Given the description of an element on the screen output the (x, y) to click on. 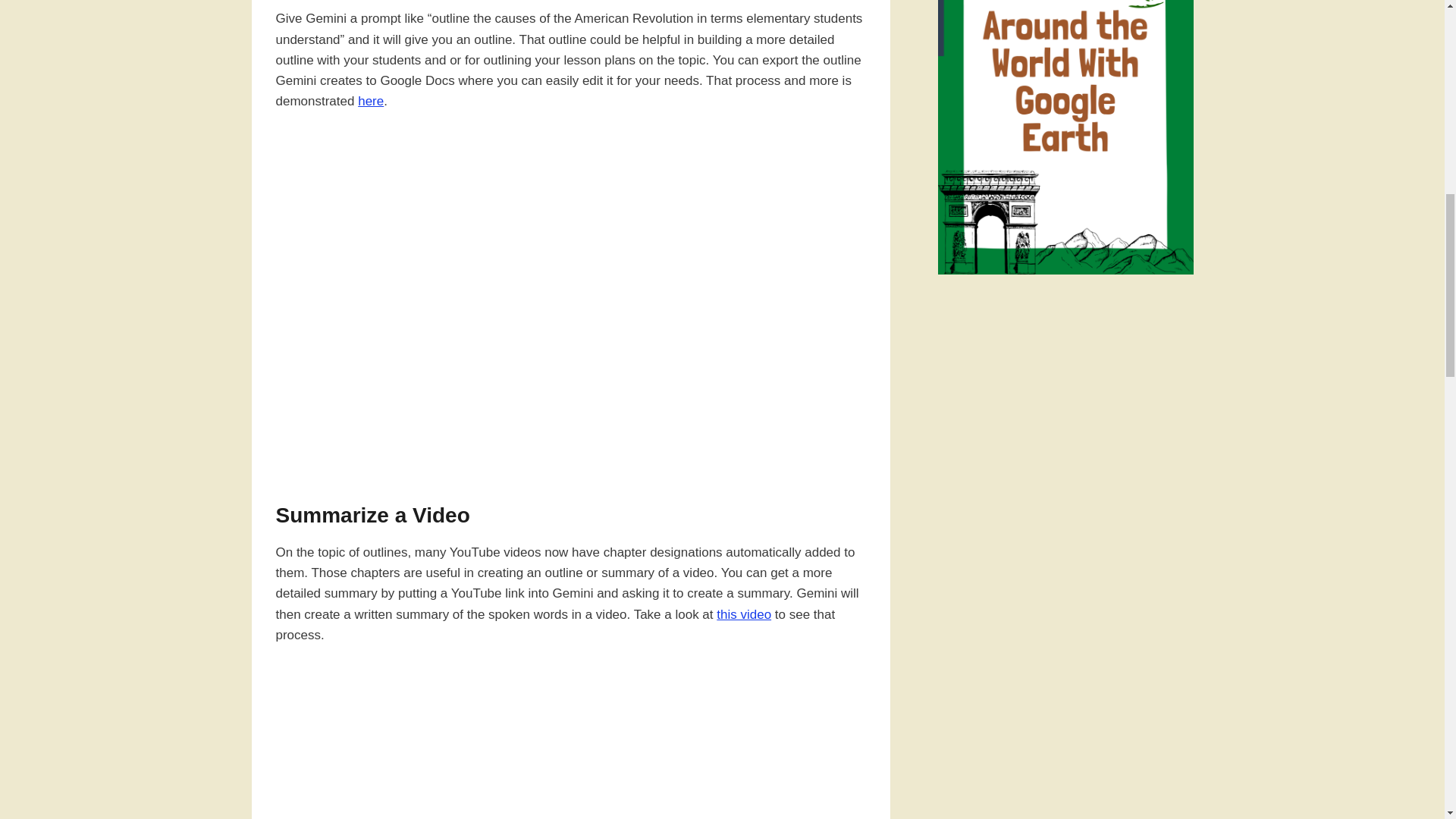
this video (743, 614)
How to Use Google Gemini to Summarize a Video (571, 744)
here (371, 101)
